Given the description of an element on the screen output the (x, y) to click on. 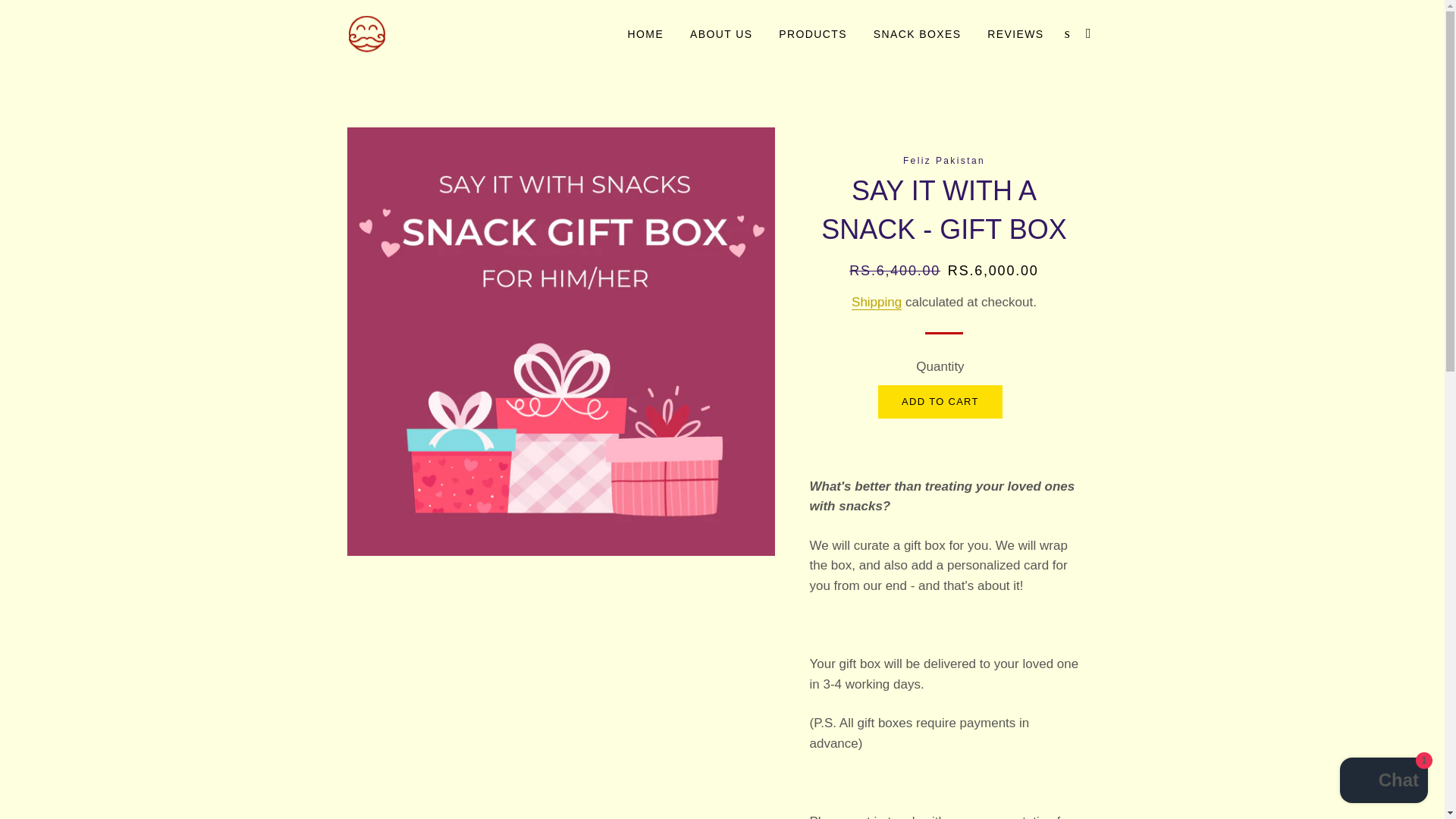
HOME (645, 34)
Shipping (876, 302)
ABOUT US (721, 34)
PRODUCTS (813, 34)
SNACK BOXES (916, 34)
CART (1088, 33)
REVIEWS (1014, 34)
Shopify online store chat (1383, 781)
SEARCH (1066, 33)
ADD TO CART (940, 401)
